Given the description of an element on the screen output the (x, y) to click on. 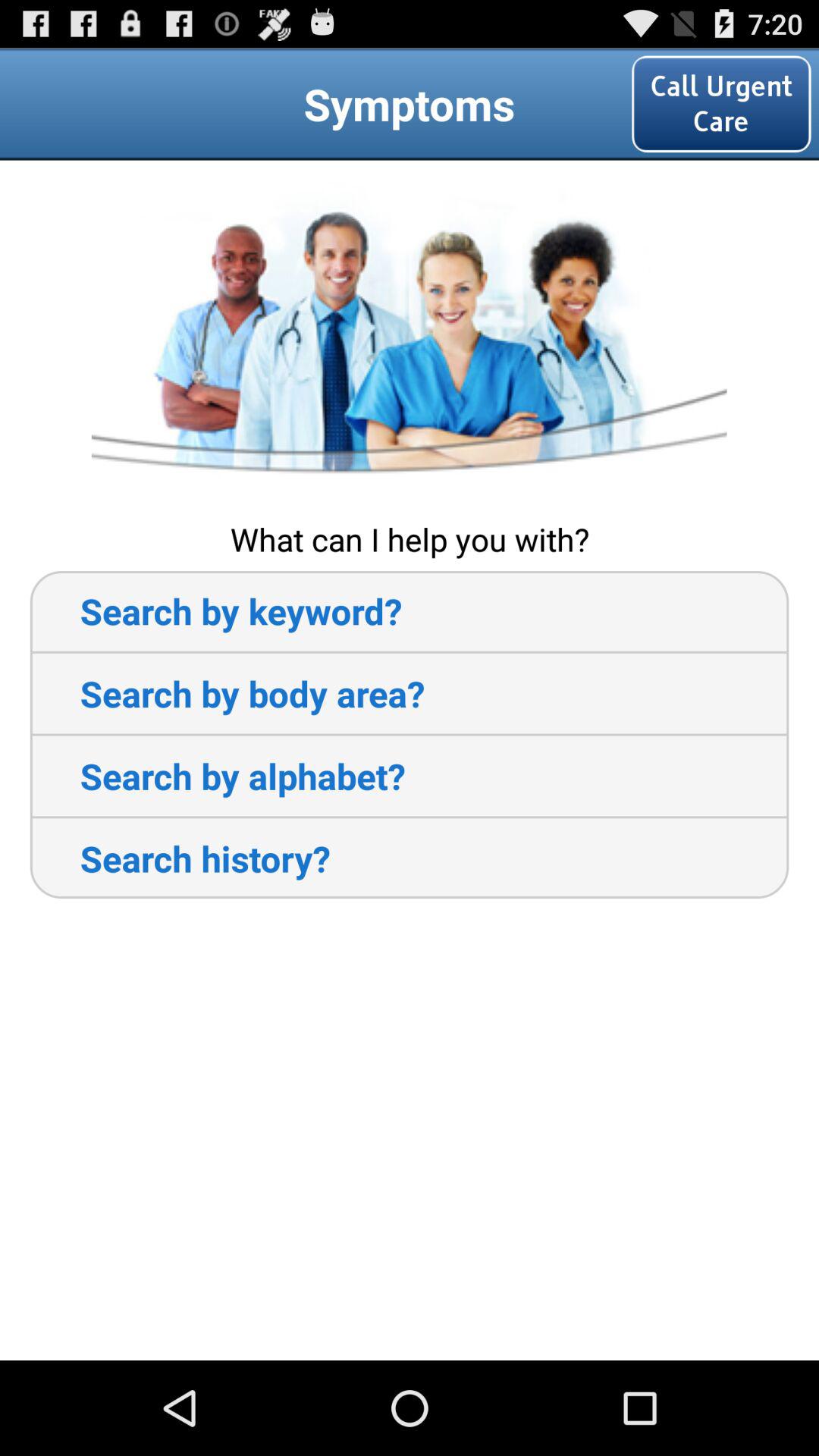
open call urgent care (721, 103)
